Given the description of an element on the screen output the (x, y) to click on. 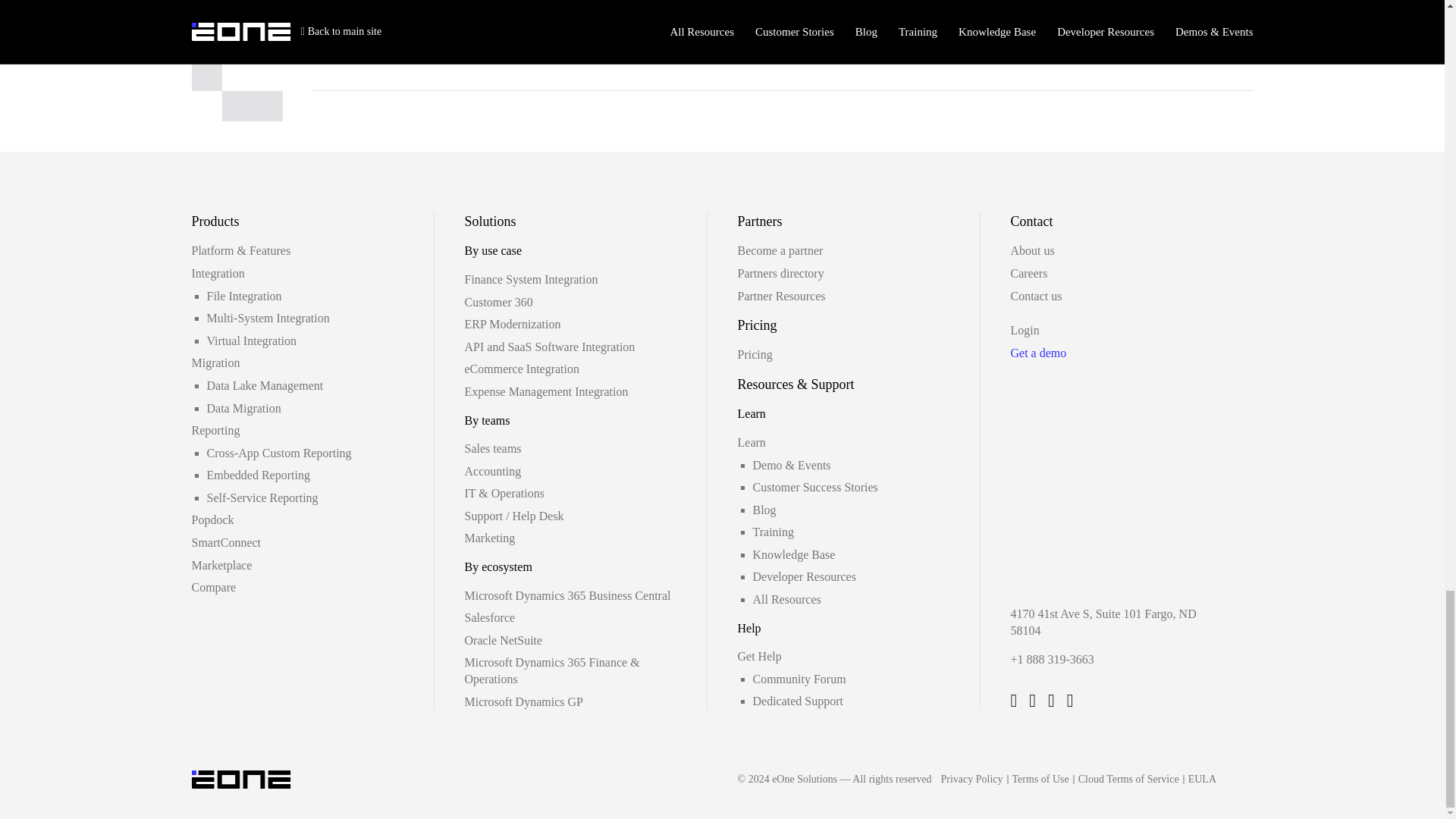
Embedded Reporting (257, 474)
Integration (217, 273)
Migration (215, 362)
Virtual Integration (251, 340)
Self-Service Reporting (261, 497)
ERP Modernization (512, 323)
Data Lake Management (264, 385)
API and SaaS Software Integration (549, 346)
File Integration (243, 295)
Data Migration (243, 408)
Popdock (211, 519)
Compare (212, 586)
Customer 360 (498, 301)
Marketplace (220, 564)
Multi-System Integration (267, 318)
